Given the description of an element on the screen output the (x, y) to click on. 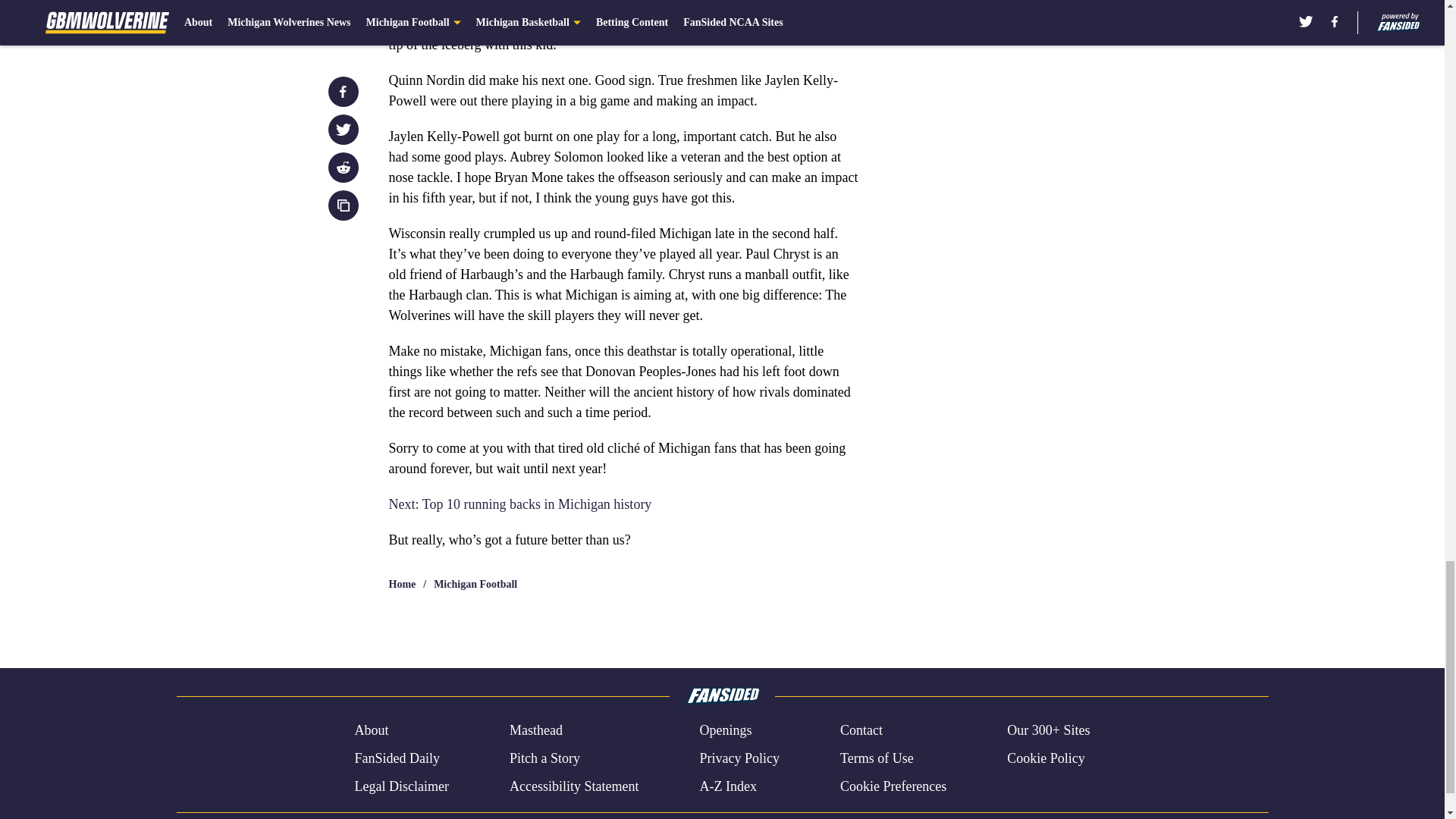
Michigan Football (474, 584)
Masthead (535, 730)
Terms of Use (877, 758)
About (370, 730)
Home (401, 584)
Cookie Preferences (893, 786)
FanSided Daily (396, 758)
Contact (861, 730)
Next: Top 10 running backs in Michigan history (519, 503)
Legal Disclaimer (400, 786)
Openings (724, 730)
Privacy Policy (738, 758)
A-Z Index (726, 786)
Accessibility Statement (574, 786)
Cookie Policy (1045, 758)
